Given the description of an element on the screen output the (x, y) to click on. 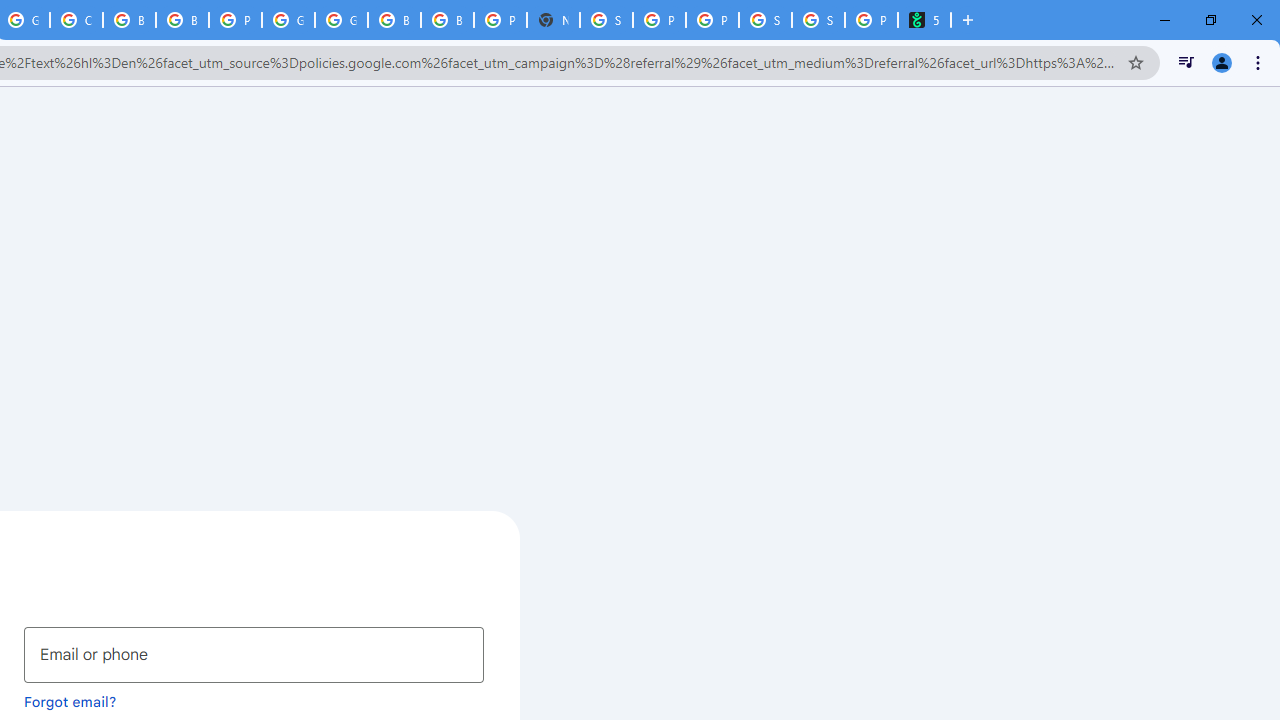
Browse Chrome as a guest - Computer - Google Chrome Help (129, 20)
Google Cloud Platform (341, 20)
Google Cloud Platform (288, 20)
Browse Chrome as a guest - Computer - Google Chrome Help (394, 20)
